Given the description of an element on the screen output the (x, y) to click on. 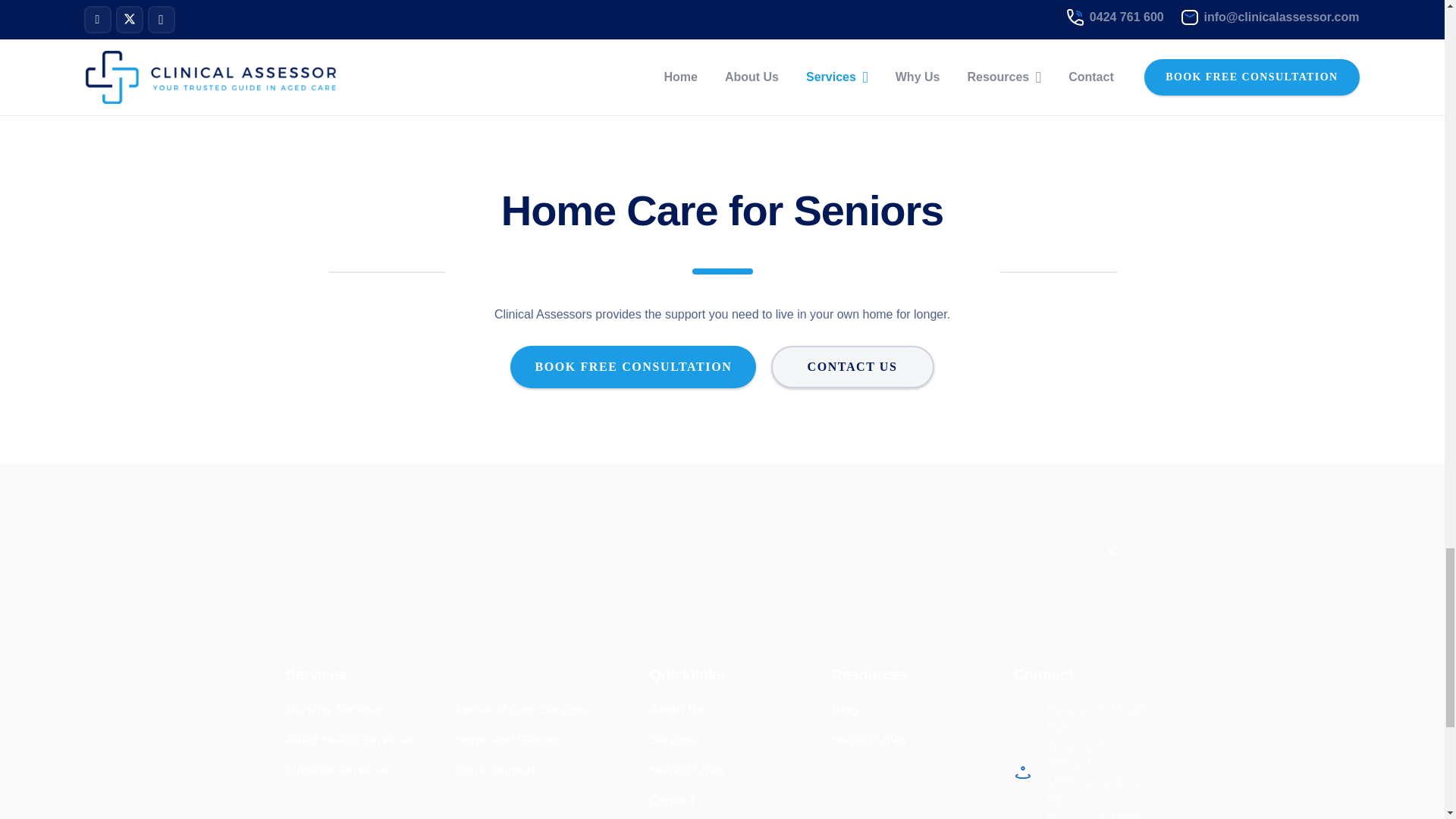
Nursing Services (334, 708)
LinkedIn (1145, 551)
Facebook (1077, 551)
Twitter (1110, 551)
BOOK FREE CONSULTATION (633, 366)
Reach out. (792, 29)
CONTACT US (852, 366)
